Given the description of an element on the screen output the (x, y) to click on. 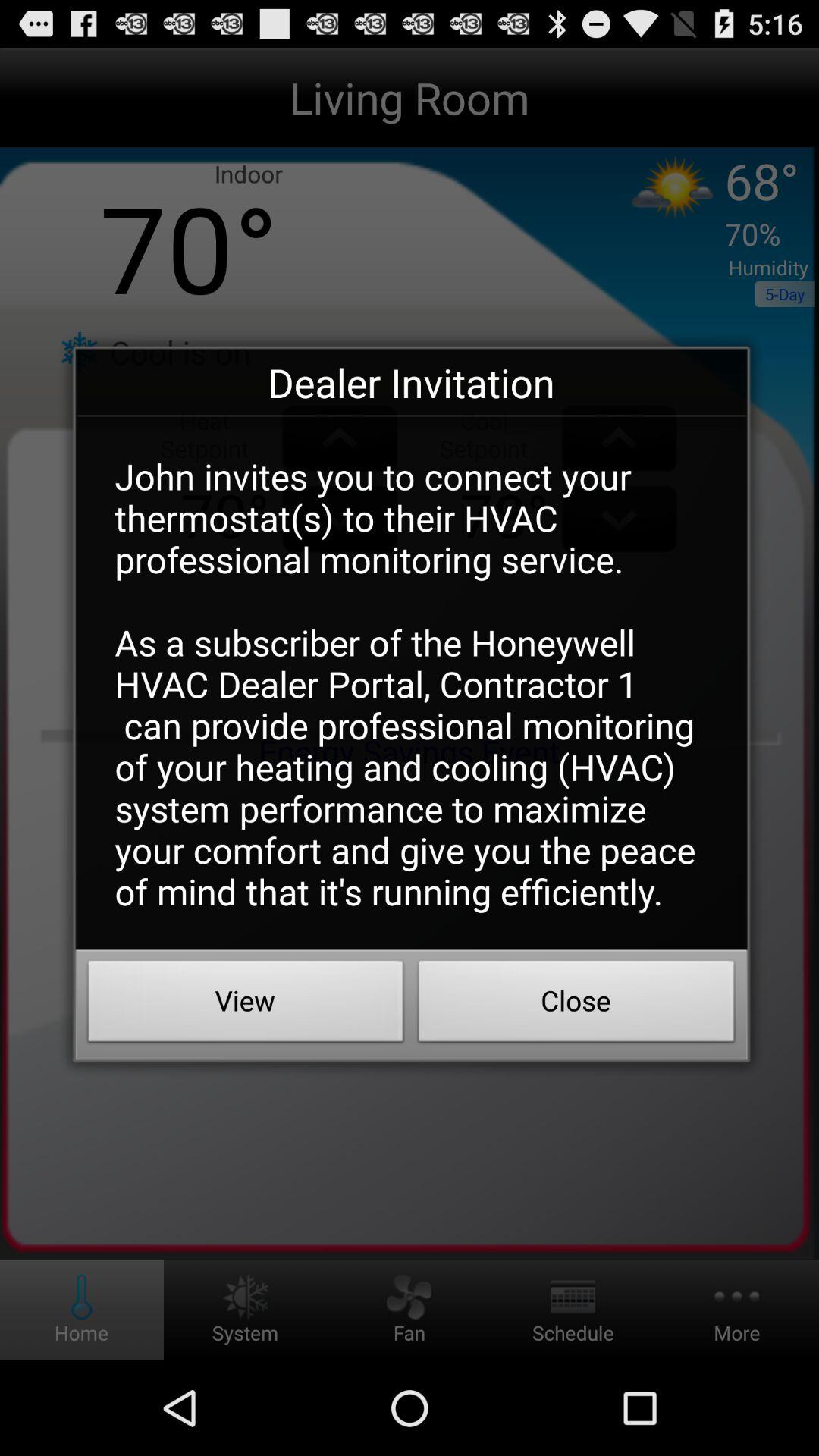
turn off item at the bottom left corner (245, 1005)
